Given the description of an element on the screen output the (x, y) to click on. 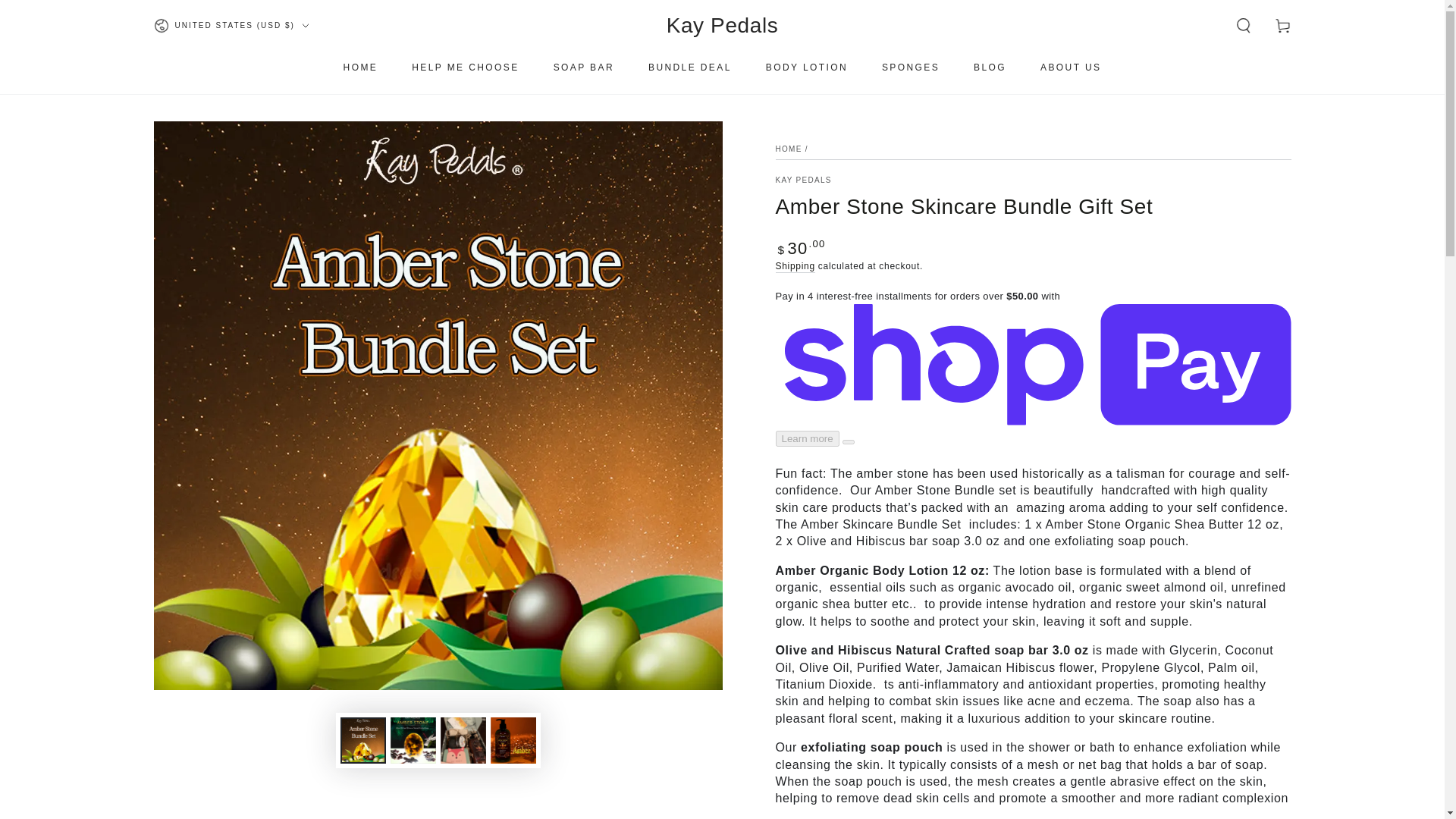
SOAP BAR (583, 67)
Back to the frontpage (788, 148)
HELP ME CHOOSE (464, 67)
BODY LOTION (806, 67)
SPONGES (910, 67)
Kay Pedals (802, 180)
SKIP TO PRODUCT INFORMATION (243, 139)
Kay Pedals (722, 25)
BUNDLE DEAL (689, 67)
